Given the description of an element on the screen output the (x, y) to click on. 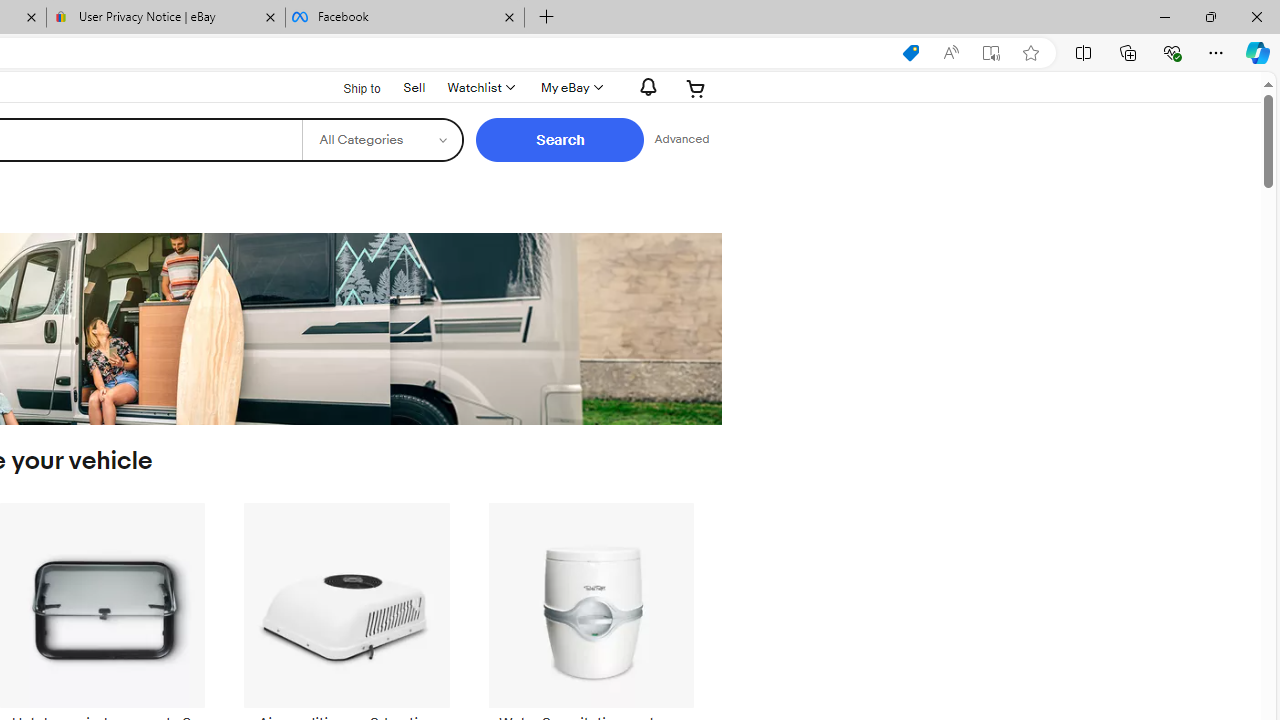
WatchlistExpand Watch List (479, 88)
Ship to (349, 89)
This site has coupons! Shopping in Microsoft Edge (910, 53)
Ship to (349, 86)
My eBay (569, 88)
New Tab (546, 17)
Sell (413, 86)
Enter Immersive Reader (F9) (991, 53)
Sell (414, 87)
Minimize (1164, 16)
User Privacy Notice | eBay (166, 17)
Add this page to favorites (Ctrl+D) (1030, 53)
Notifications (642, 87)
AutomationID: gh-eb-Alerts (645, 87)
Split screen (1083, 52)
